Given the description of an element on the screen output the (x, y) to click on. 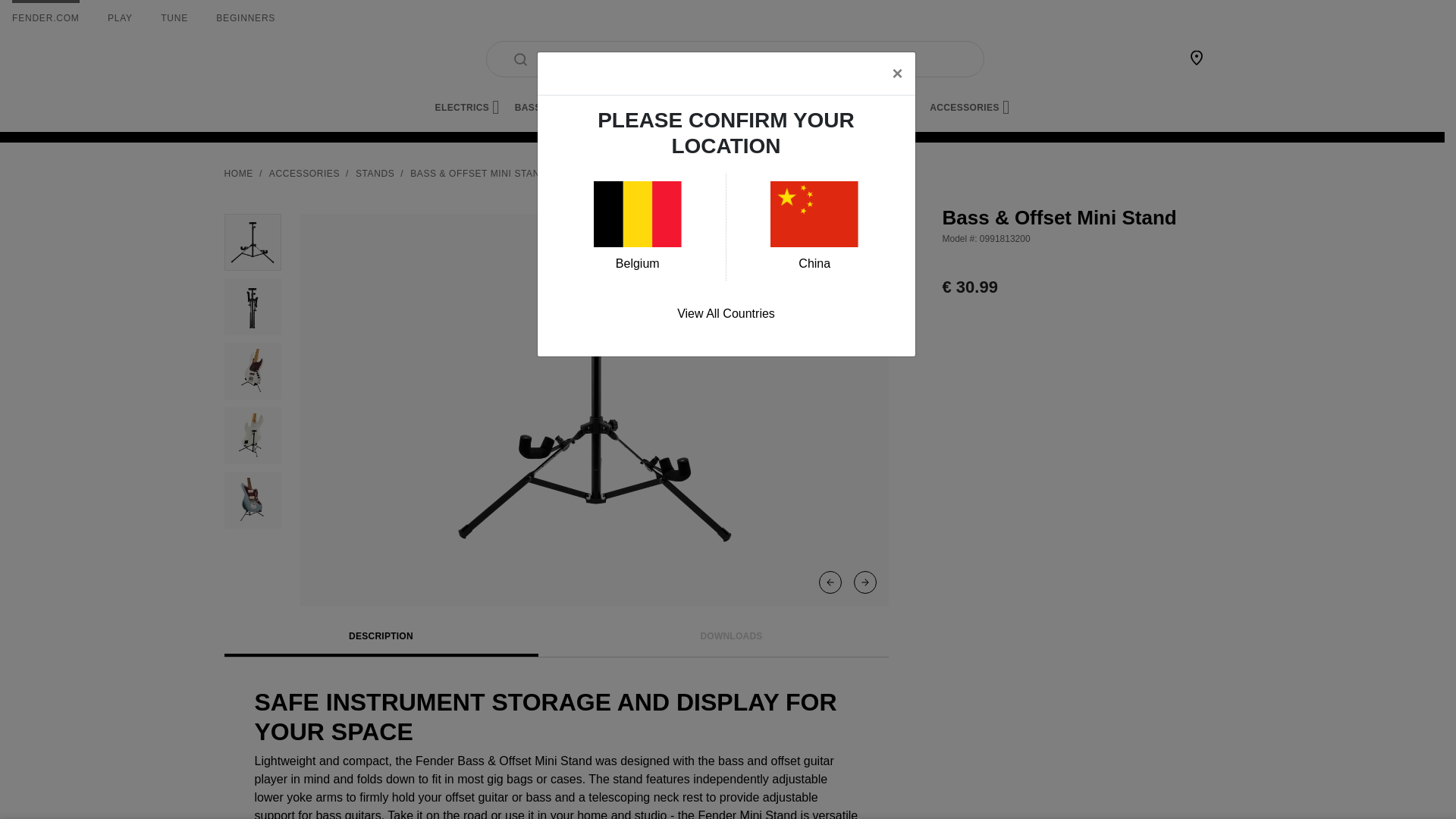
PLAY (119, 18)
FENDER.COM (45, 18)
BEGINNERS (245, 18)
Fender Home (261, 58)
ELECTRICS (467, 107)
TUNE (173, 18)
